Given the description of an element on the screen output the (x, y) to click on. 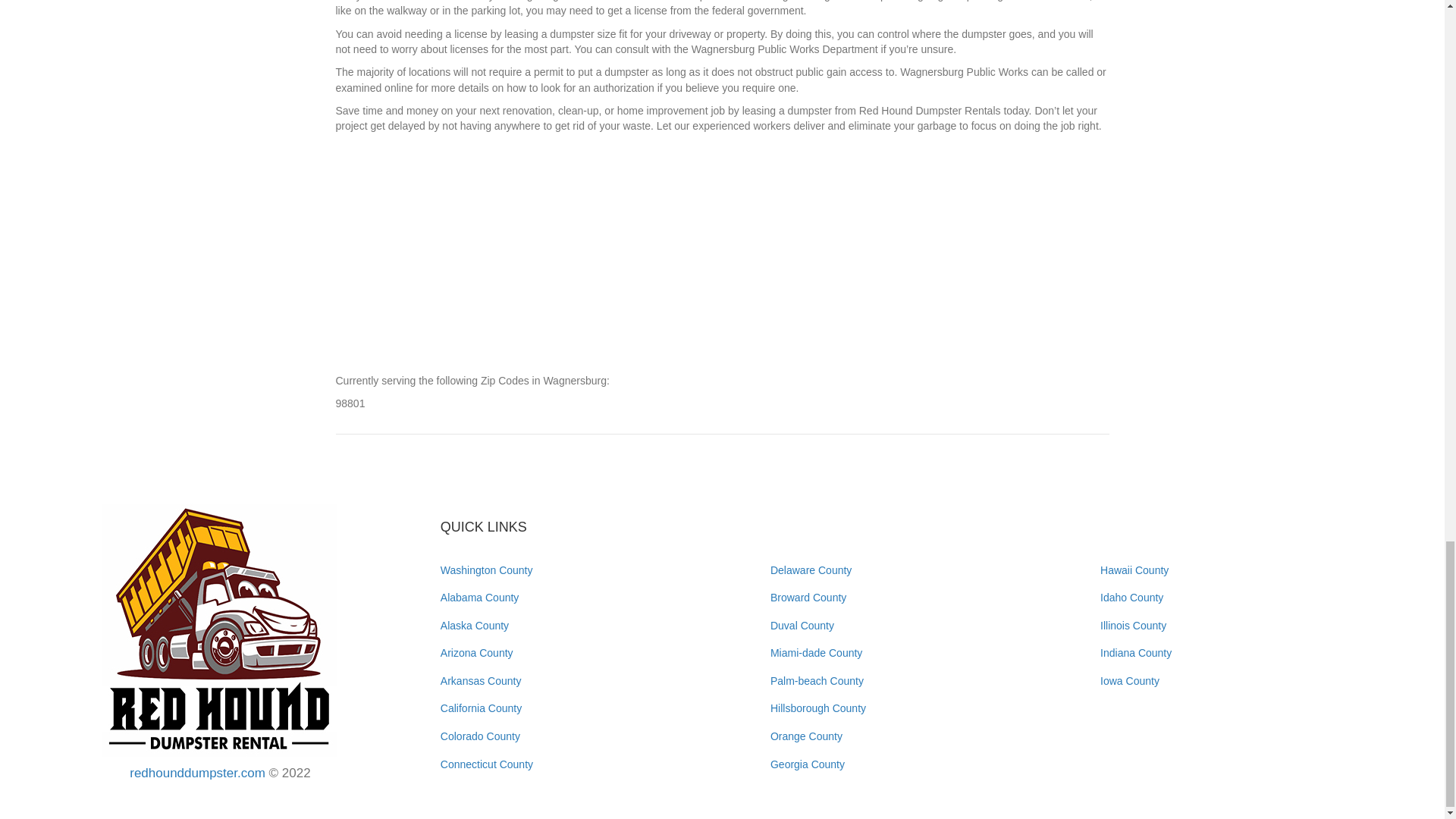
redhounddumpster.com (196, 772)
Washington County (486, 570)
redhounddumpster (219, 629)
Alabama County (480, 597)
